Given the description of an element on the screen output the (x, y) to click on. 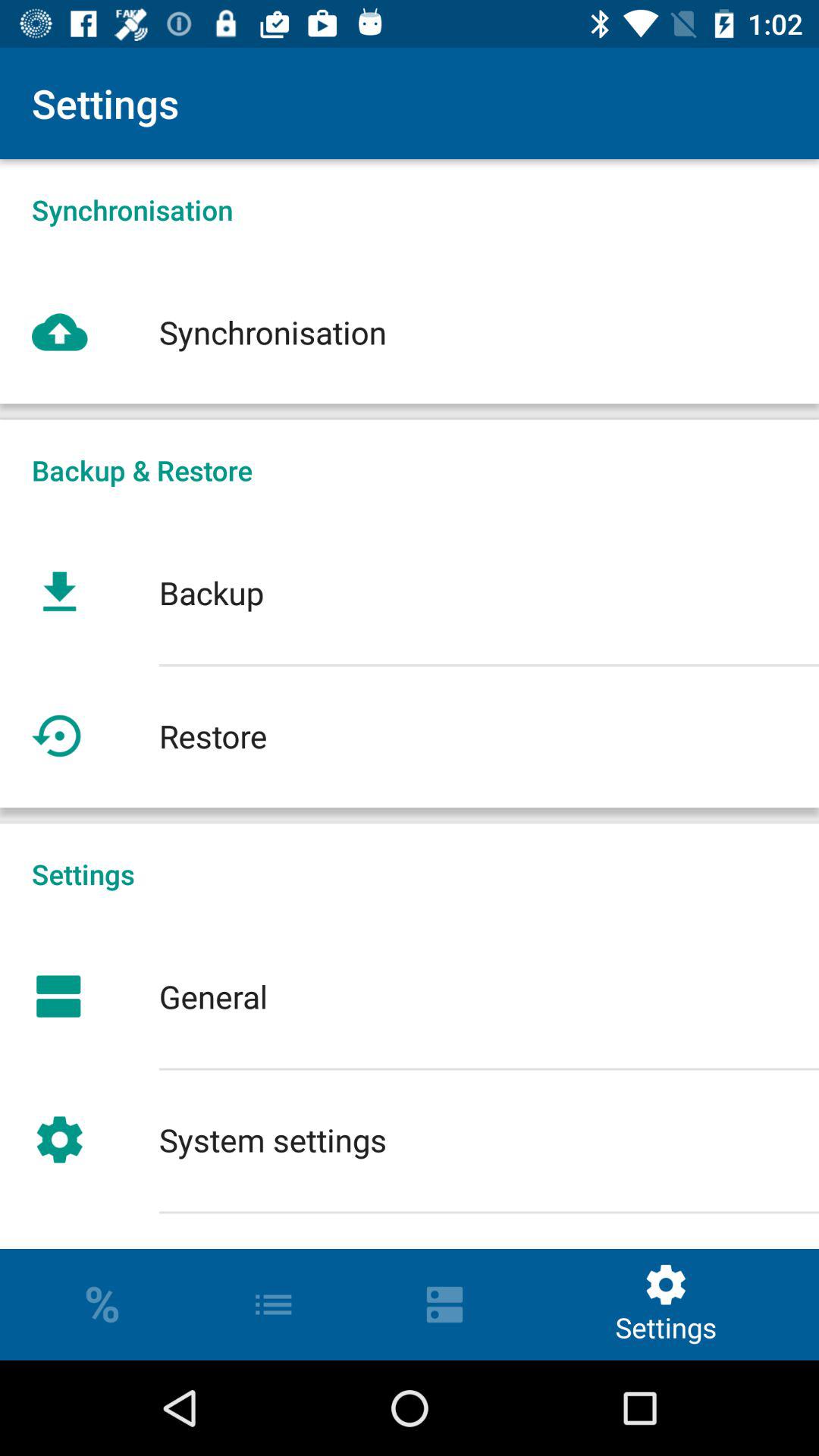
launch item above the sort order settings item (409, 1139)
